Given the description of an element on the screen output the (x, y) to click on. 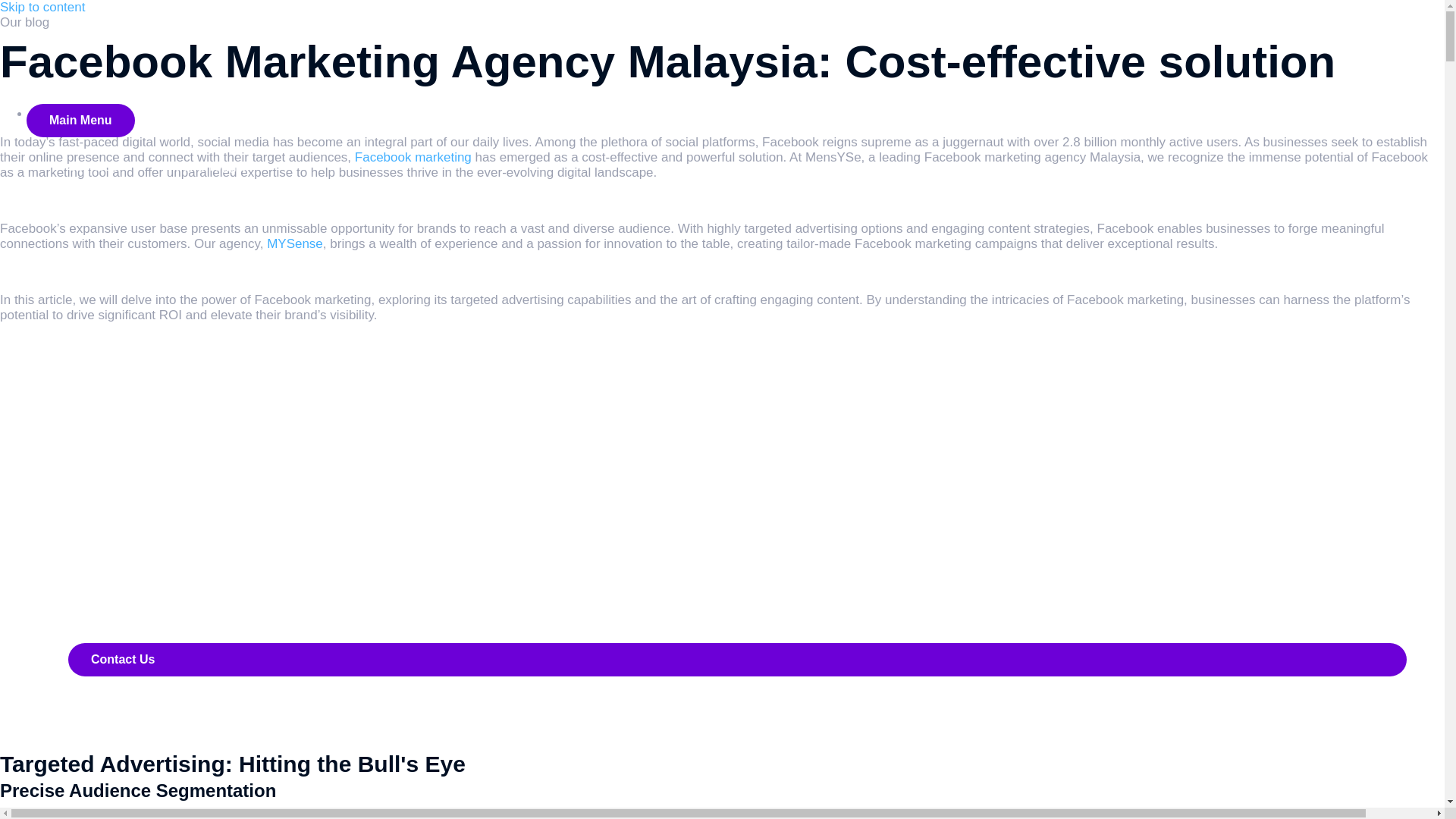
Menu Toggle (221, 530)
About Us (94, 490)
Our Works (108, 530)
Services (102, 165)
Contact Us (737, 659)
Skip to content (42, 7)
Main Menu (80, 120)
Blog (80, 505)
Career (87, 635)
Skip to content (42, 7)
Menu Toggle (209, 166)
